Given the description of an element on the screen output the (x, y) to click on. 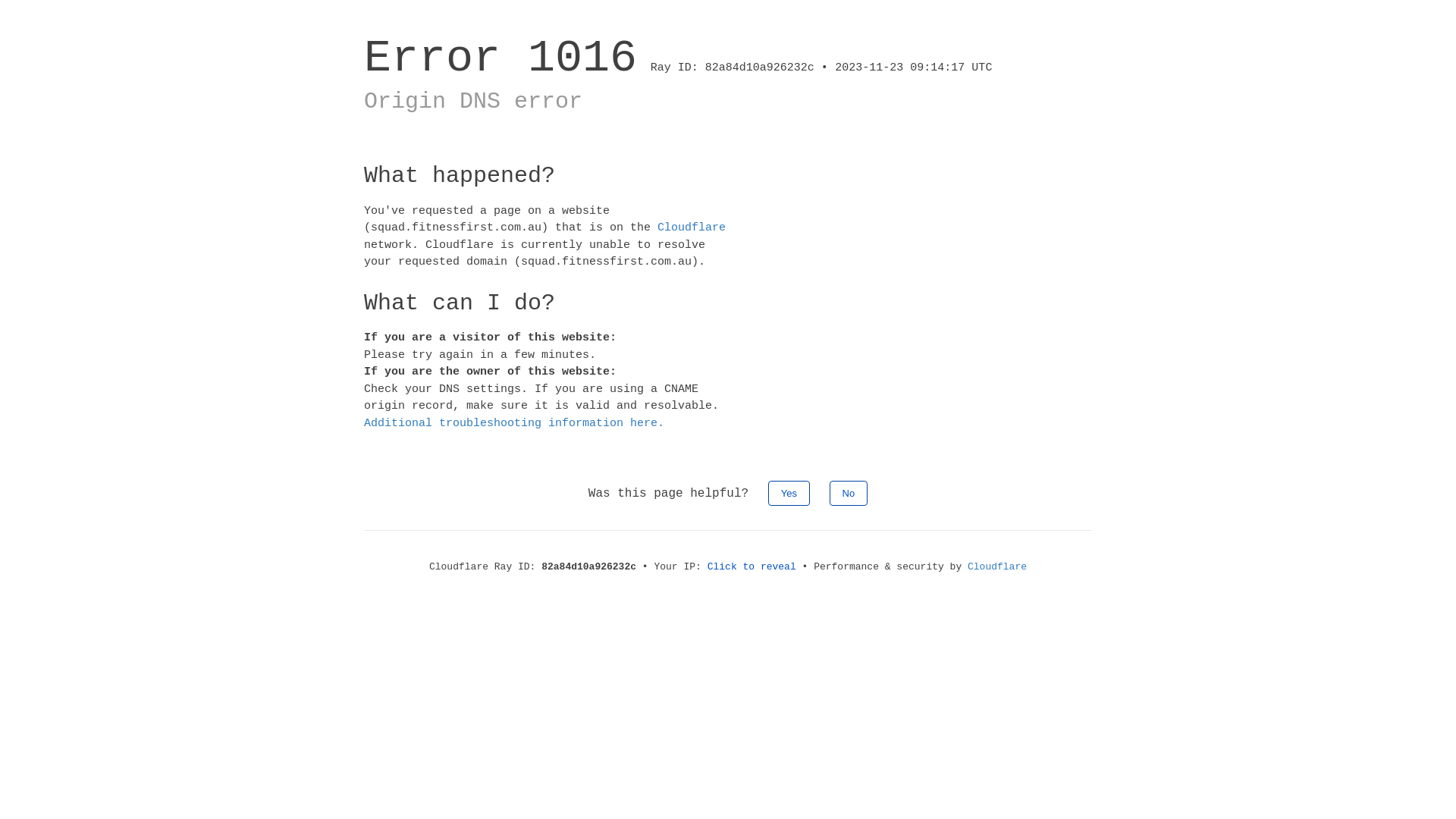
Yes Element type: text (788, 492)
No Element type: text (848, 492)
Cloudflare Element type: text (996, 566)
Click to reveal Element type: text (751, 566)
Cloudflare Element type: text (691, 227)
Additional troubleshooting information here. Element type: text (514, 423)
